Given the description of an element on the screen output the (x, y) to click on. 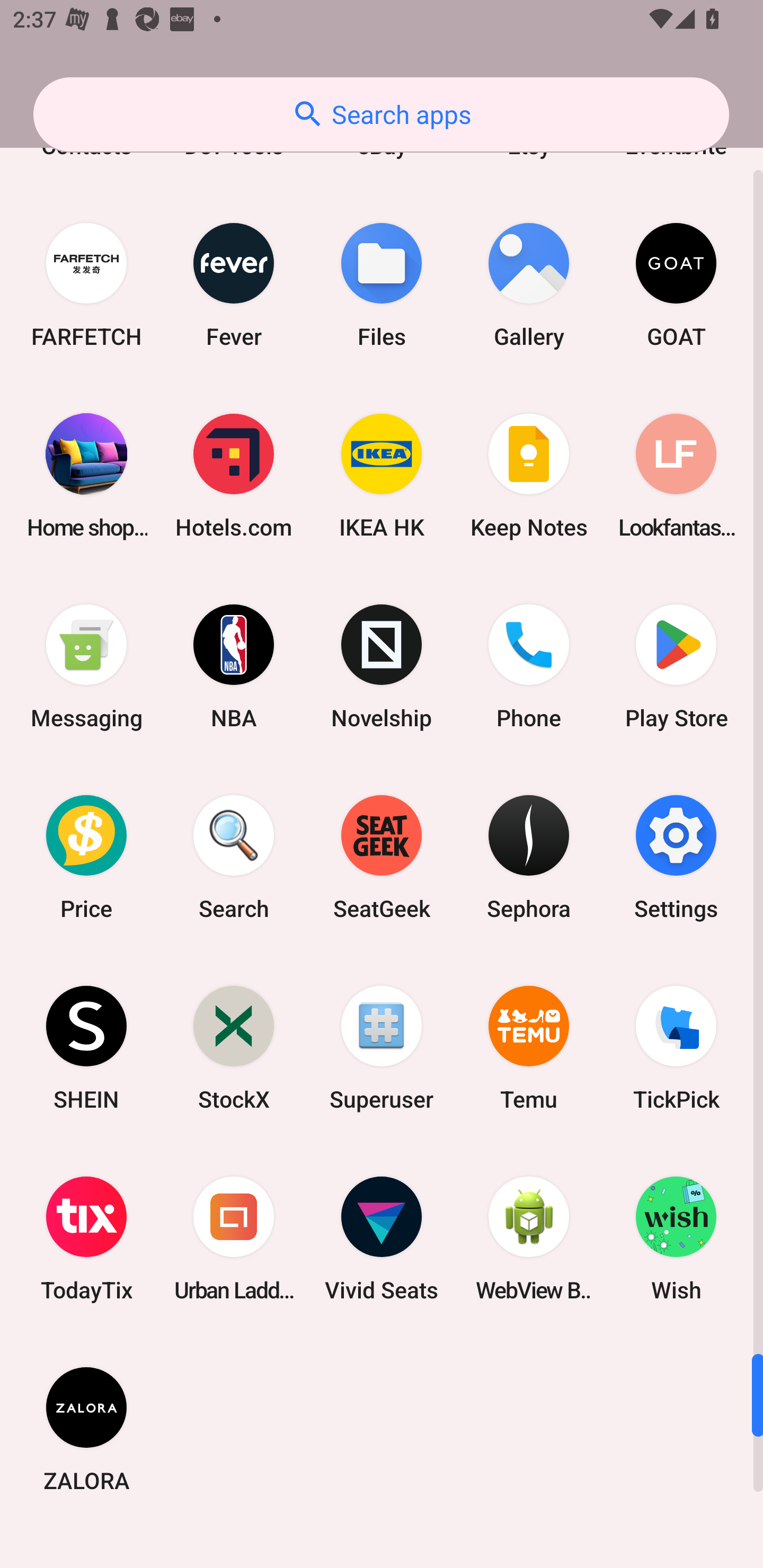
  Search apps (381, 114)
FARFETCH (86, 285)
Fever (233, 285)
Files (381, 285)
Gallery (528, 285)
GOAT (676, 285)
Home shopping (86, 475)
Hotels.com (233, 475)
IKEA HK (381, 475)
Keep Notes (528, 475)
Lookfantastic (676, 475)
Messaging (86, 666)
NBA (233, 666)
Novelship (381, 666)
Phone (528, 666)
Play Store (676, 666)
Price (86, 856)
Search (233, 856)
SeatGeek (381, 856)
Sephora (528, 856)
Settings (676, 856)
SHEIN (86, 1047)
StockX (233, 1047)
Superuser (381, 1047)
Temu (528, 1047)
TickPick (676, 1047)
TodayTix (86, 1238)
Urban Ladder (233, 1238)
Vivid Seats (381, 1238)
WebView Browser Tester (528, 1238)
Wish (676, 1238)
ZALORA (86, 1429)
